Given the description of an element on the screen output the (x, y) to click on. 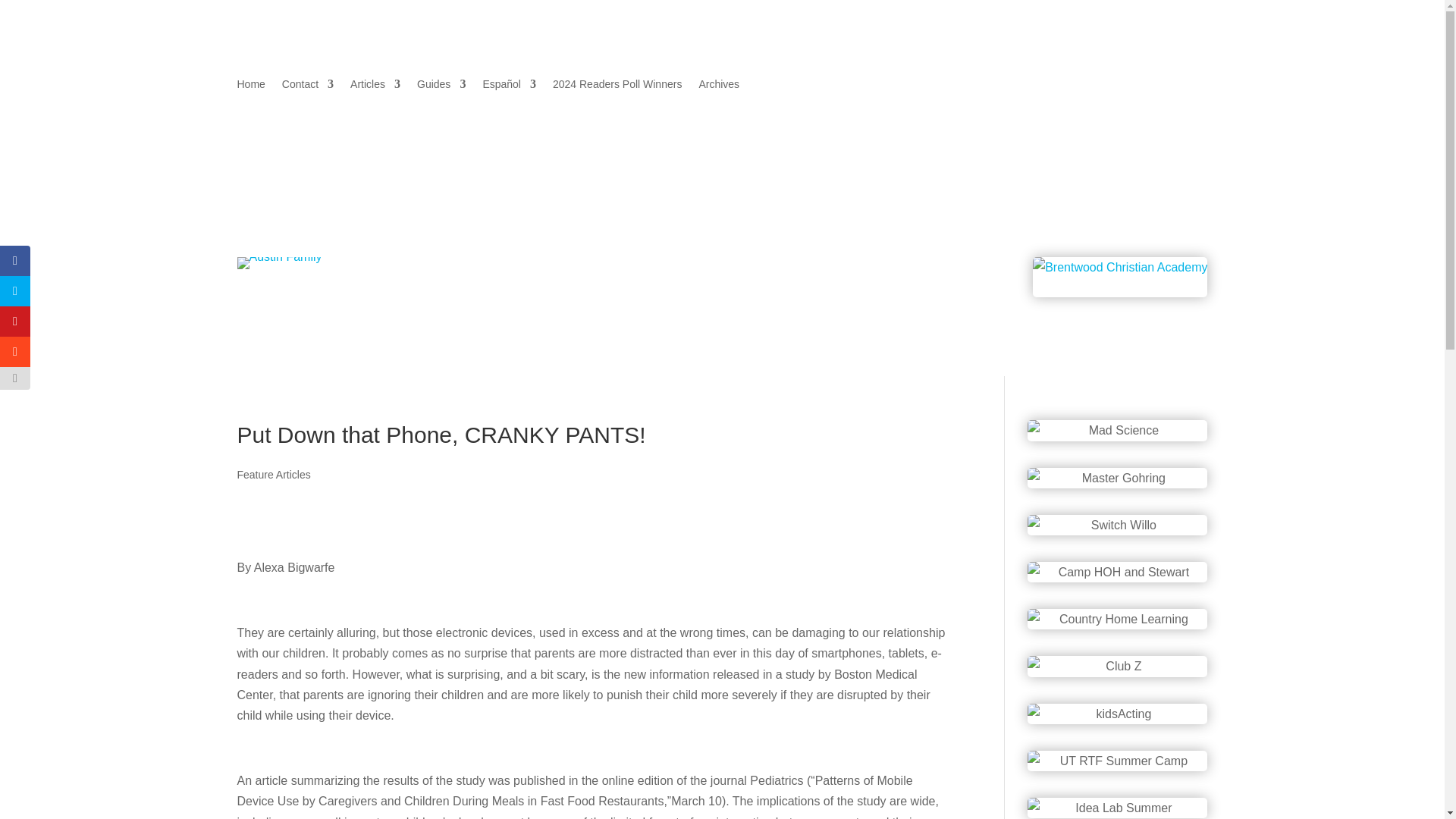
2024 Readers Poll Winners (617, 86)
Contact (307, 86)
Home (249, 86)
Guides (440, 86)
Archives (718, 86)
Articles (375, 86)
